Given the description of an element on the screen output the (x, y) to click on. 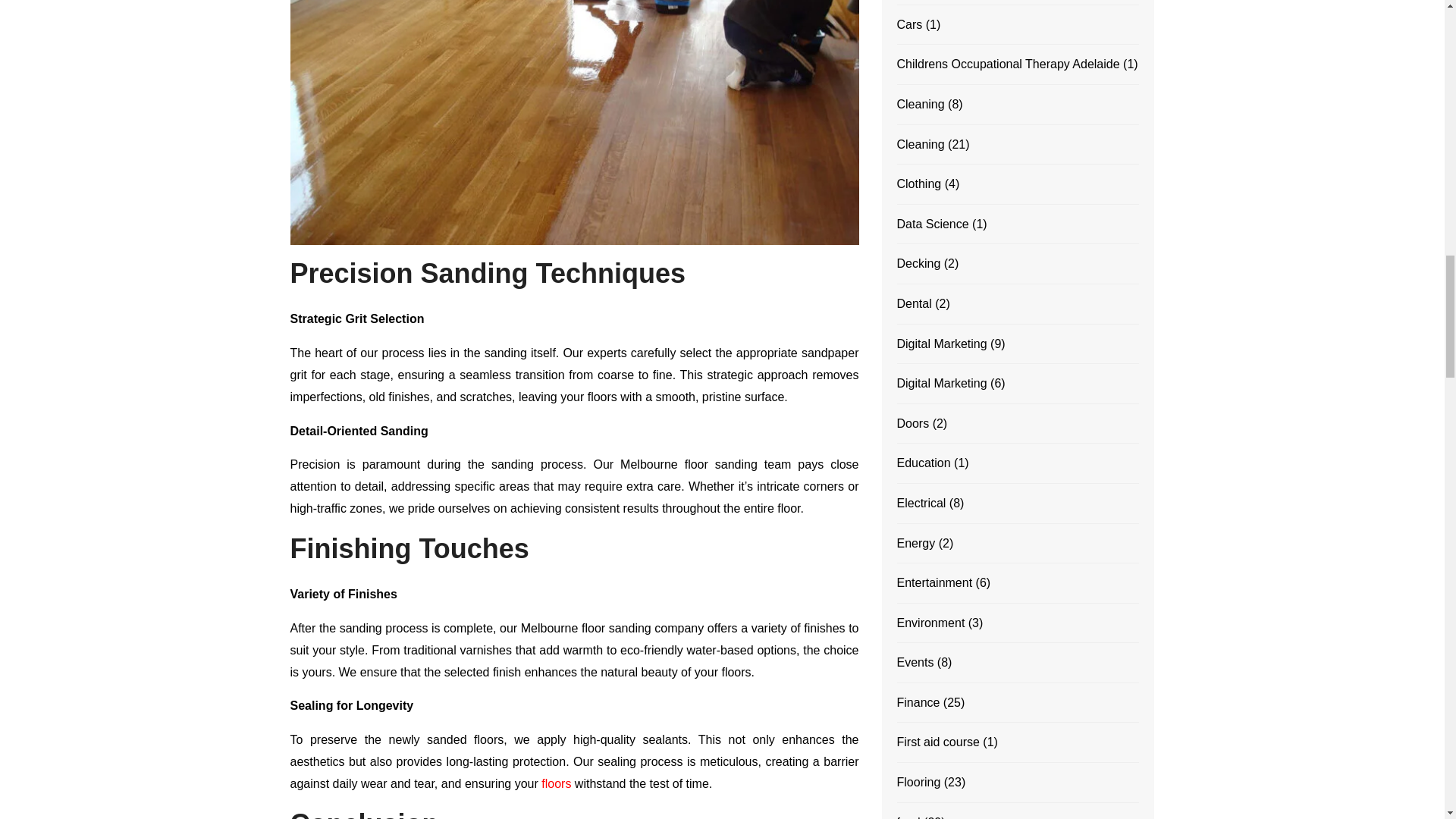
floors (555, 783)
Cleaning (919, 144)
Digital Marketing (941, 343)
floors (555, 783)
Cleaning (919, 104)
Clothing (918, 184)
